Given the description of an element on the screen output the (x, y) to click on. 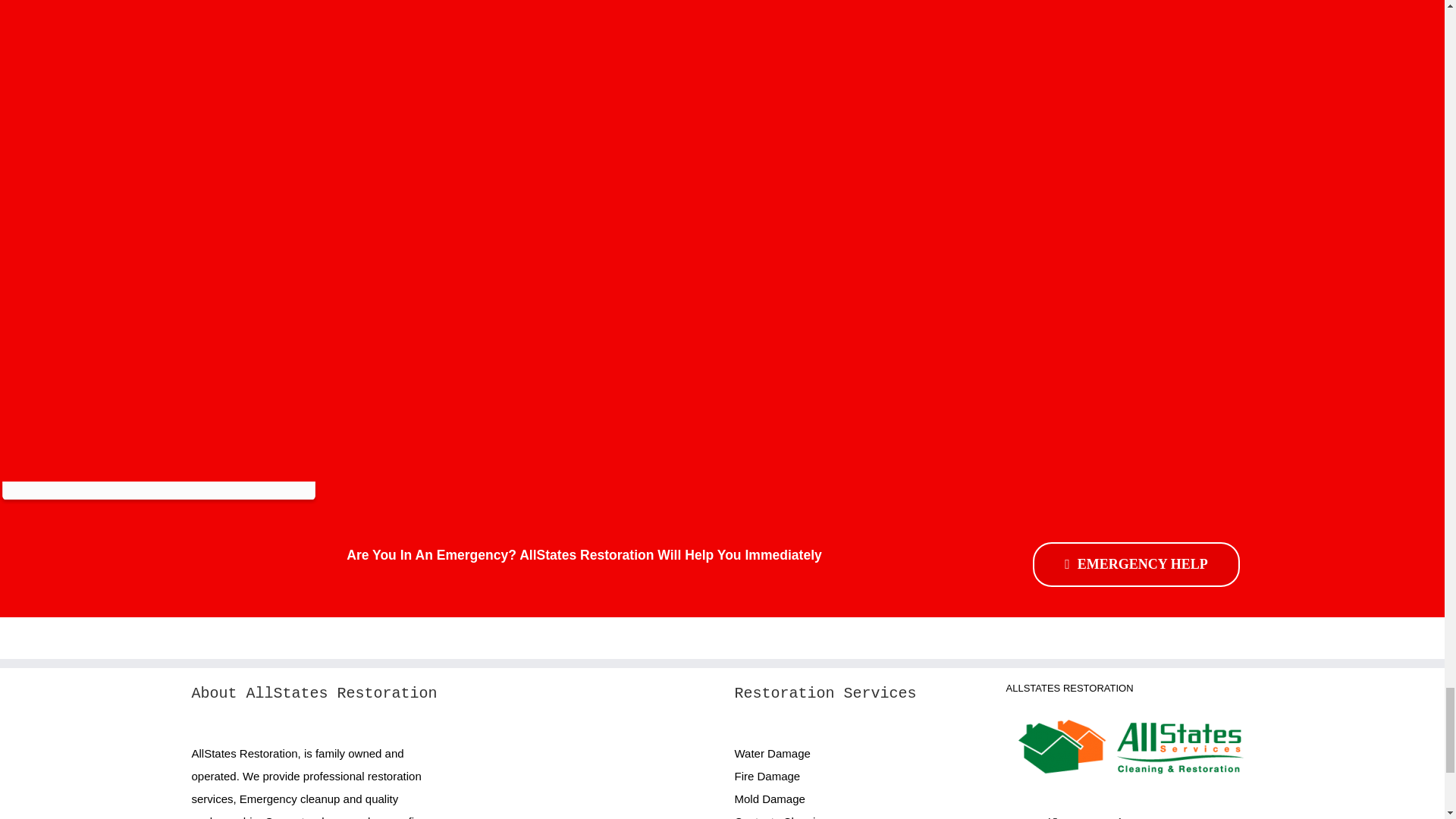
schedule-bottom-box (158, 493)
